Given the description of an element on the screen output the (x, y) to click on. 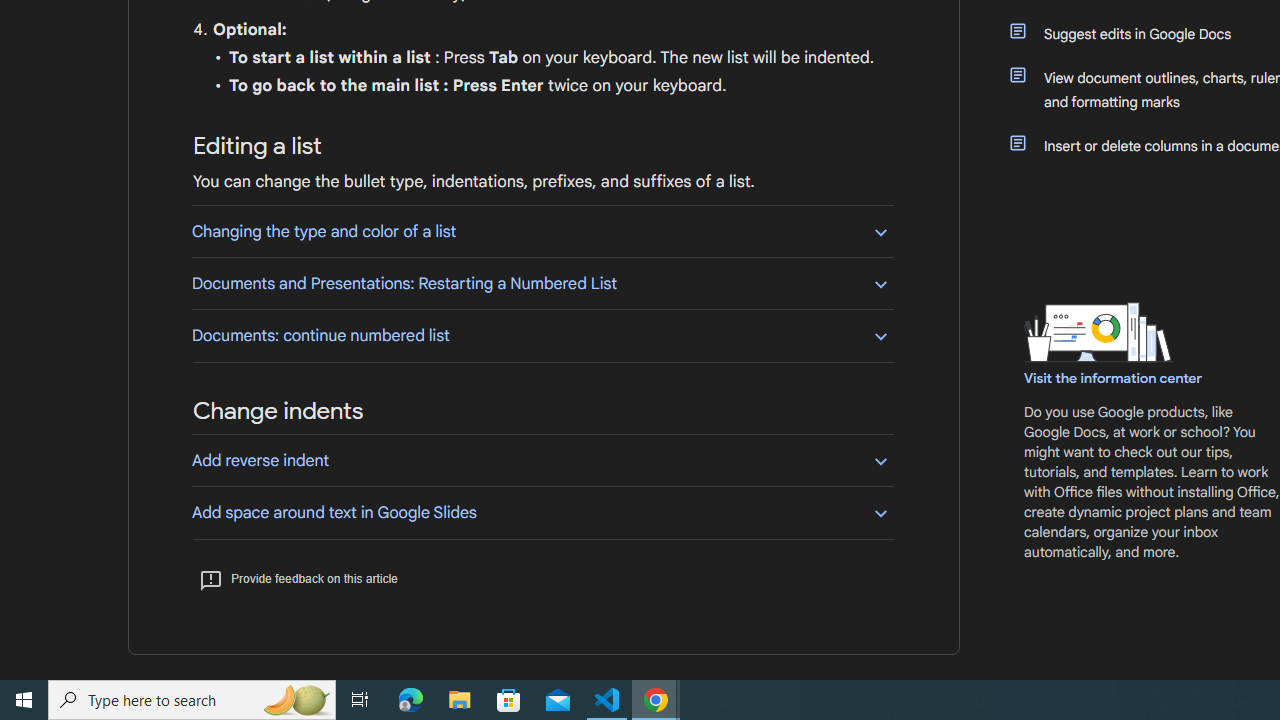
Documents: continue numbered list (542, 335)
Visit the information center (1113, 378)
Provide feedback on this article (298, 578)
Add space around text in Google Slides (542, 512)
Documents and Presentations: Restarting a Numbered List (542, 283)
Changing the type and color of a list (542, 231)
Add reverse indent (542, 460)
